Given the description of an element on the screen output the (x, y) to click on. 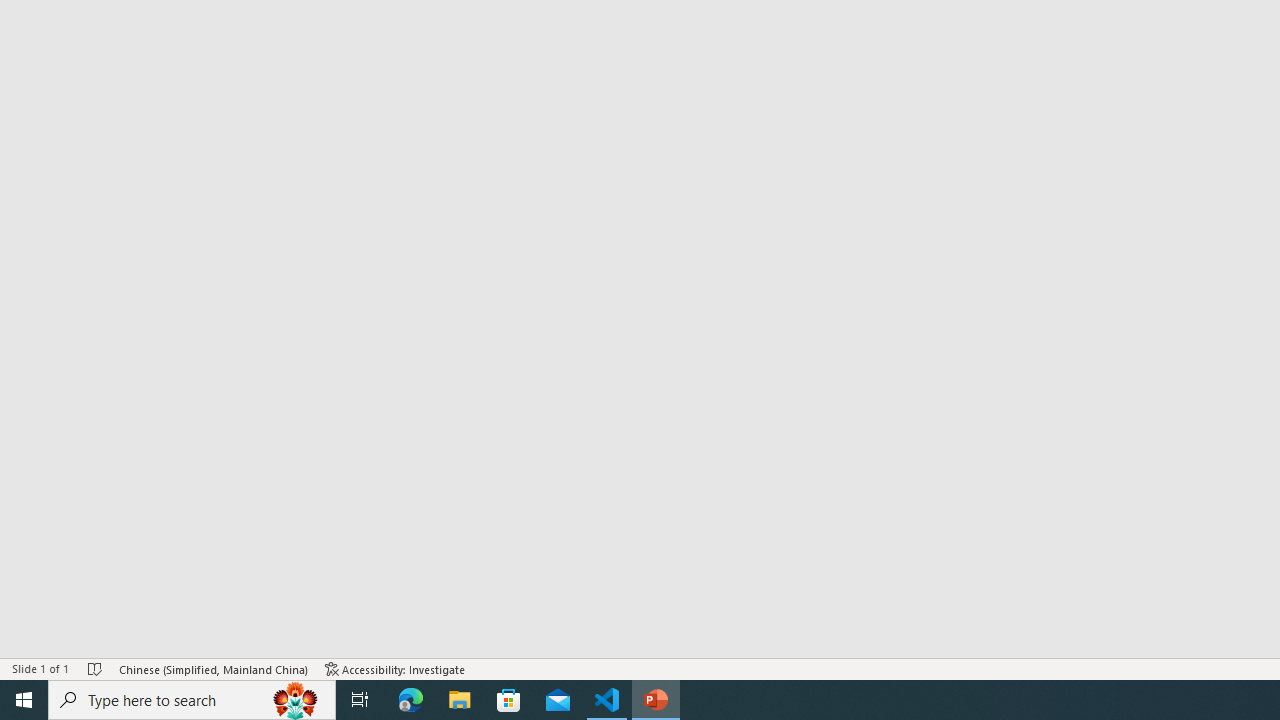
Microsoft Edge (411, 699)
